Given the description of an element on the screen output the (x, y) to click on. 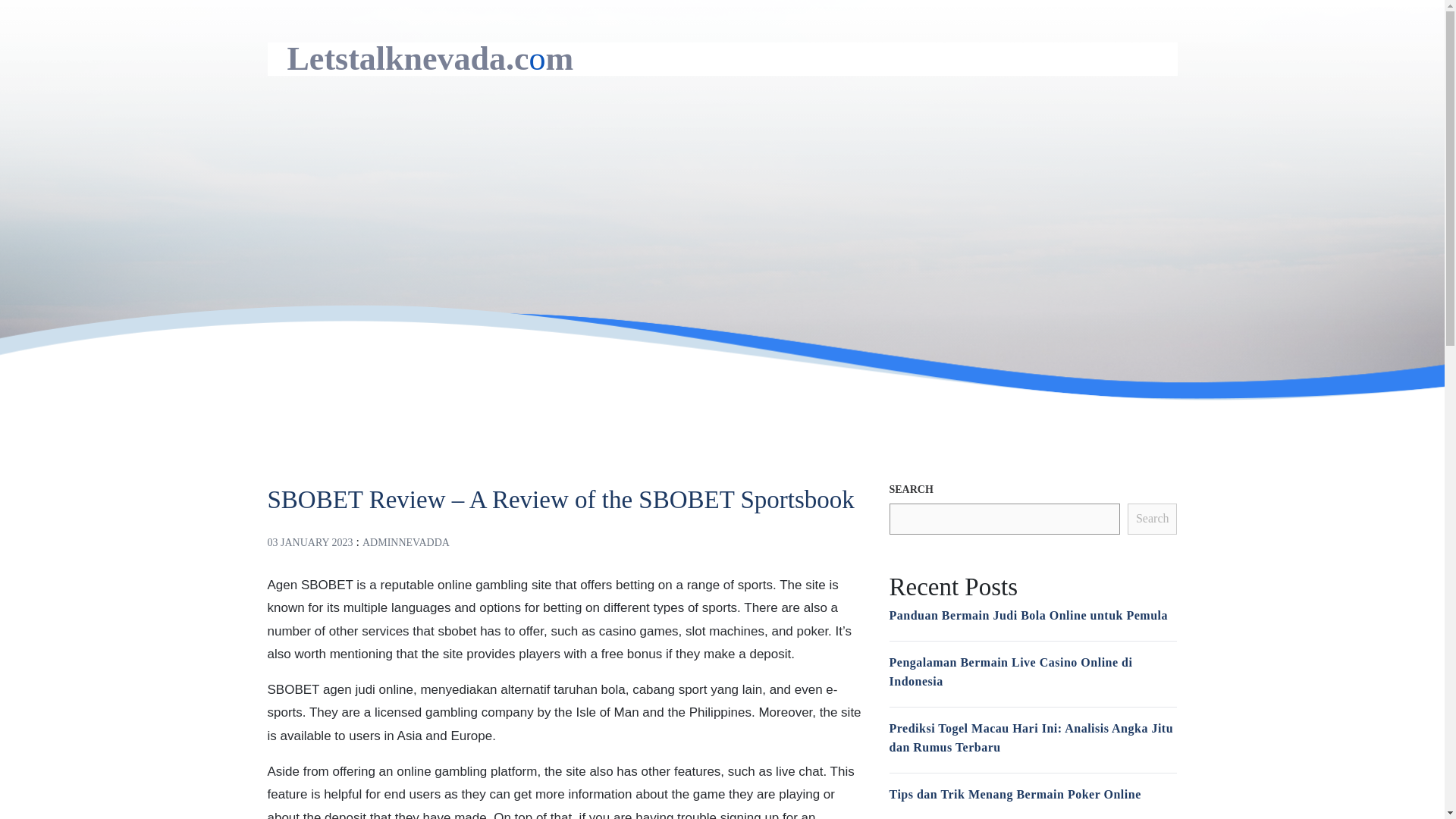
Letstalknevada.com (429, 58)
Search (1151, 518)
Pengalaman Bermain Live Casino Online di Indonesia (1010, 672)
03 JANUARY 2023 (309, 542)
Tips dan Trik Menang Bermain Poker Online (1014, 793)
ADMINNEVADDA (405, 542)
Panduan Bermain Judi Bola Online untuk Pemula (1027, 615)
